Given the description of an element on the screen output the (x, y) to click on. 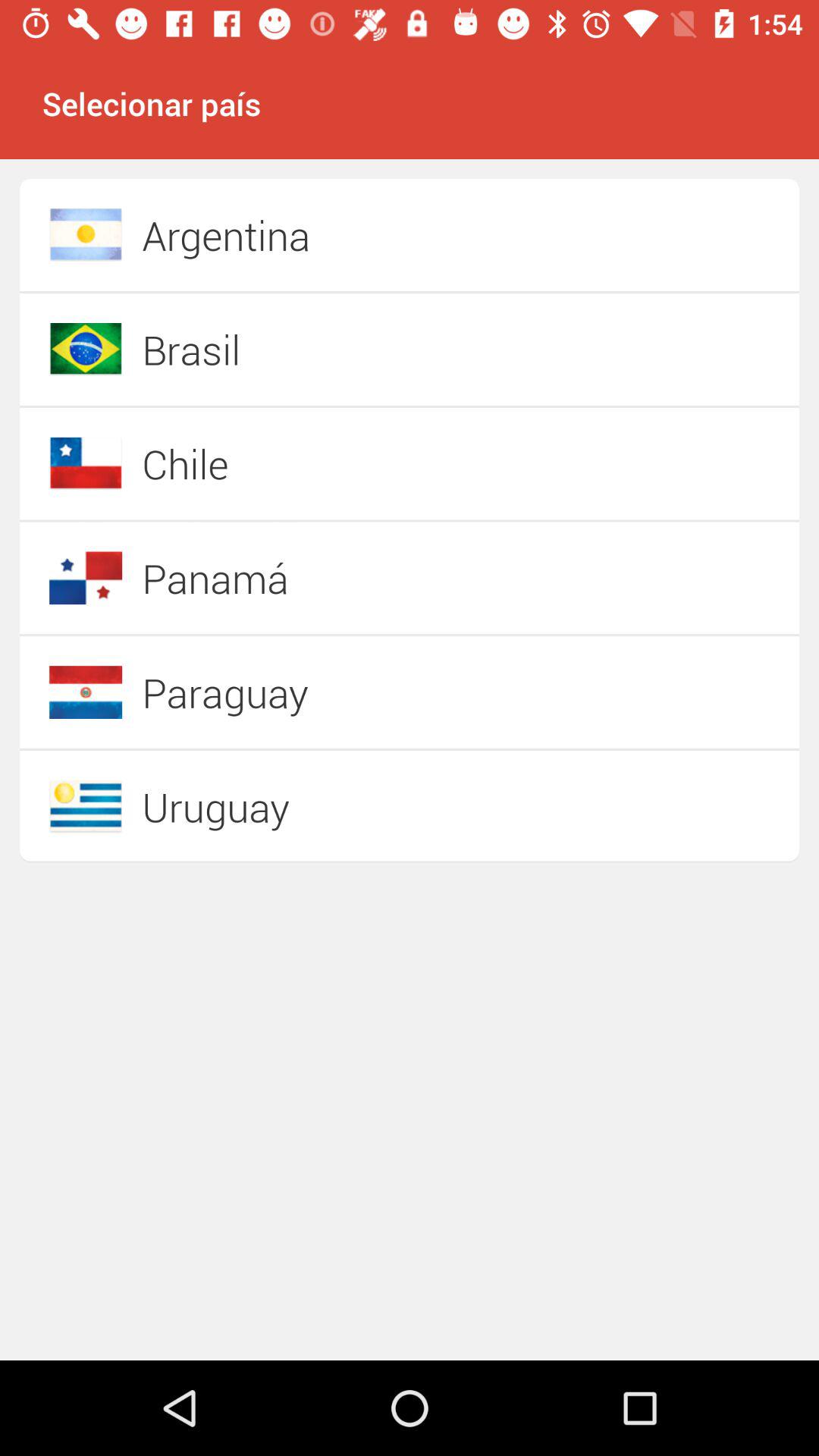
press item below chile item (356, 577)
